Given the description of an element on the screen output the (x, y) to click on. 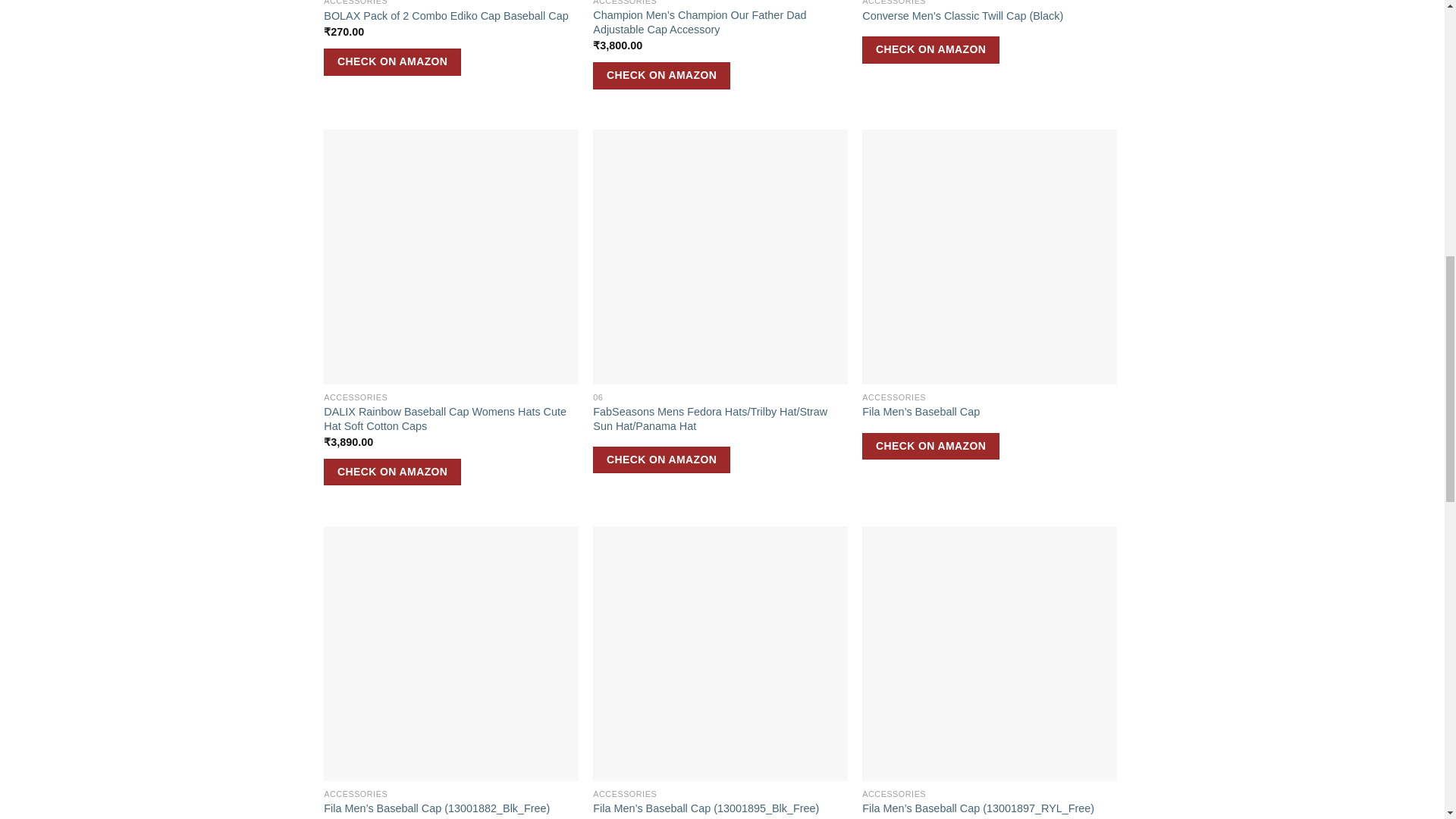
CHECK ON AMAZON (661, 75)
BOLAX Pack of 2 Combo Ediko Cap Baseball Cap (445, 16)
CHECK ON AMAZON (392, 62)
